Given the description of an element on the screen output the (x, y) to click on. 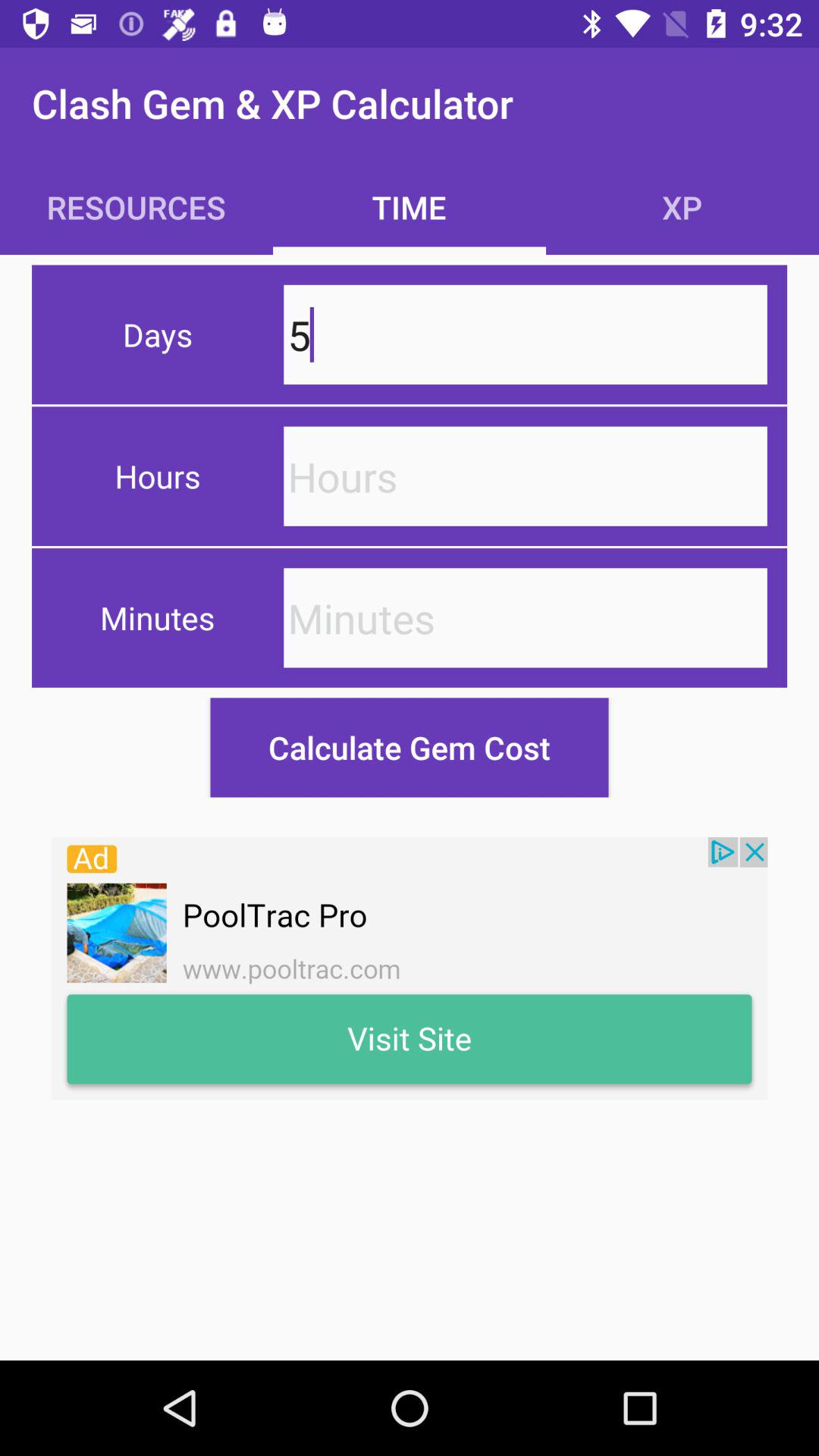
enter minutes (525, 617)
